Given the description of an element on the screen output the (x, y) to click on. 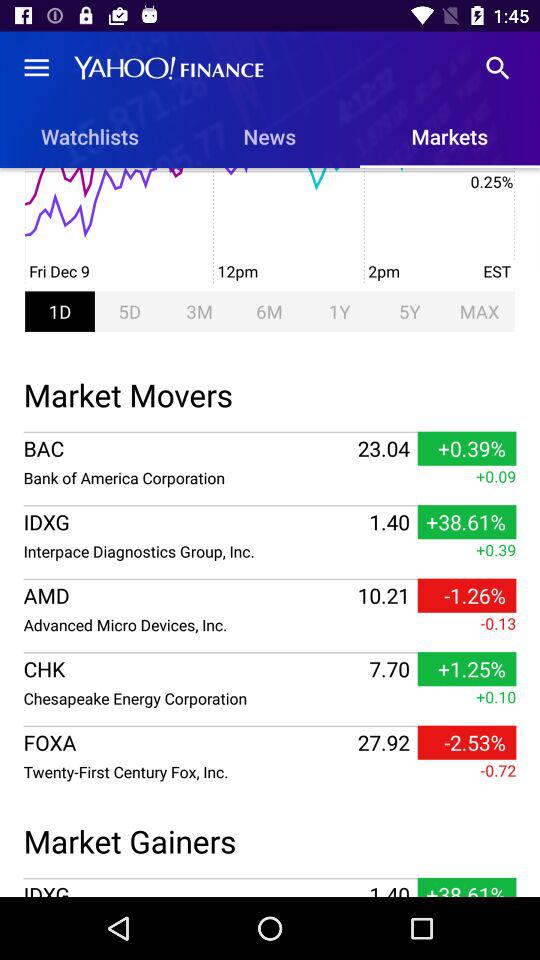
jump to the 7.70 (389, 669)
